Given the description of an element on the screen output the (x, y) to click on. 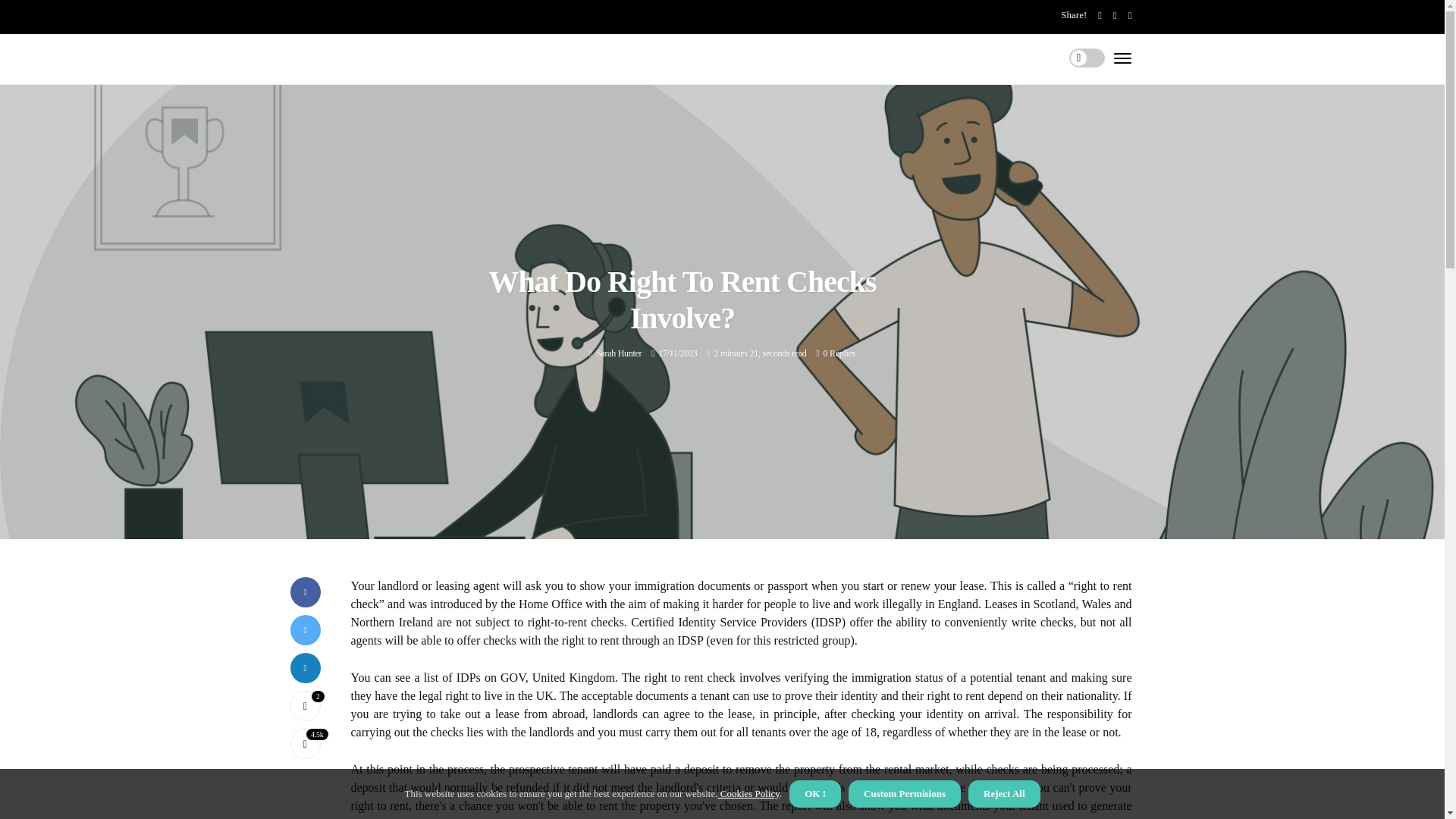
Sarah Hunter (618, 353)
Like (304, 706)
0 Replies (840, 353)
Posts by Sarah Hunter (618, 353)
2 (304, 706)
